Given the description of an element on the screen output the (x, y) to click on. 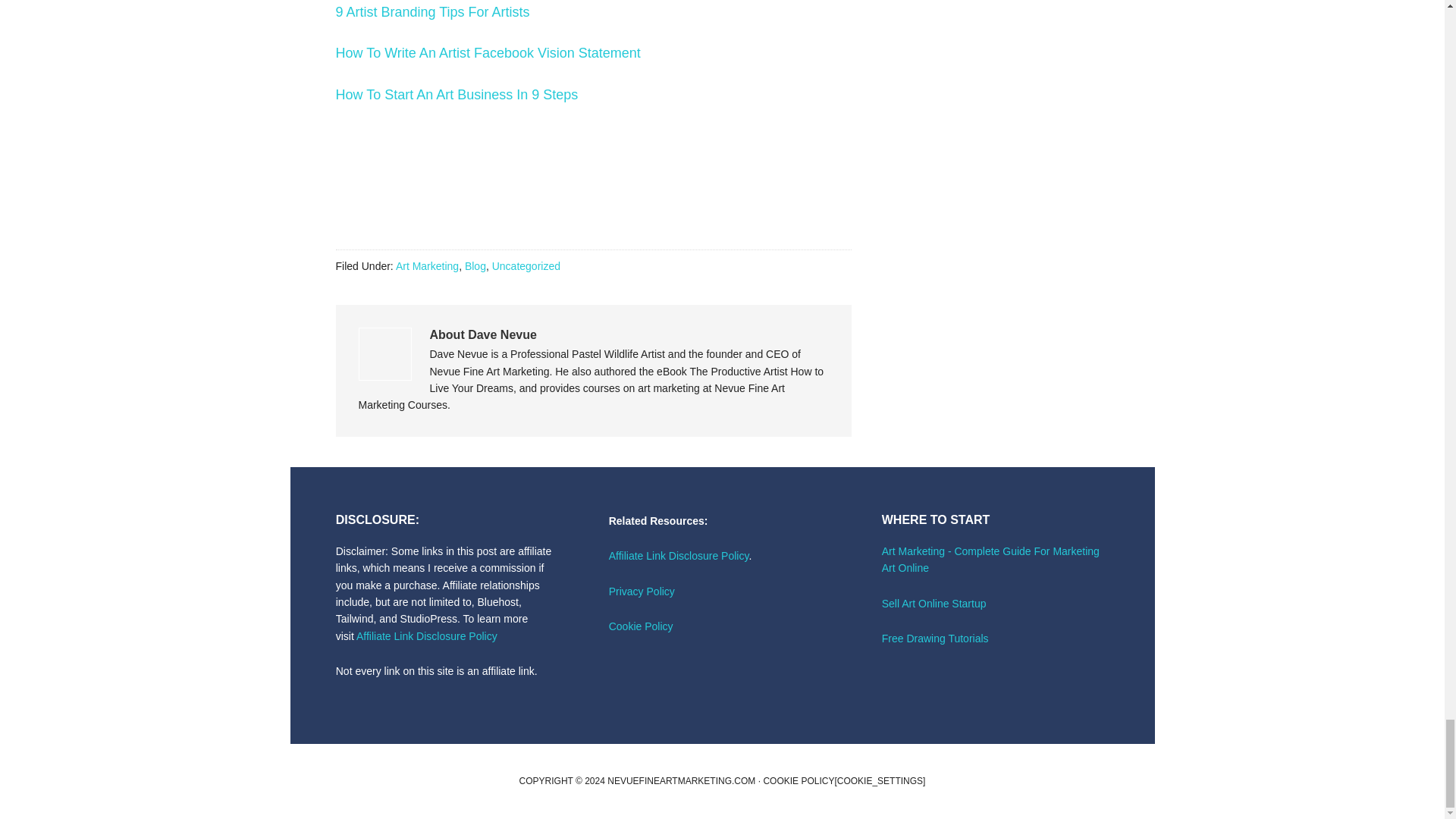
How To Start An Art Business In 9 Steps (456, 94)
How To Write An Artist Facebook Vision Statement (487, 52)
9 Artist Branding Tips For Artists (431, 11)
Art Marketing (427, 265)
Uncategorized (526, 265)
Blog (475, 265)
